Given the description of an element on the screen output the (x, y) to click on. 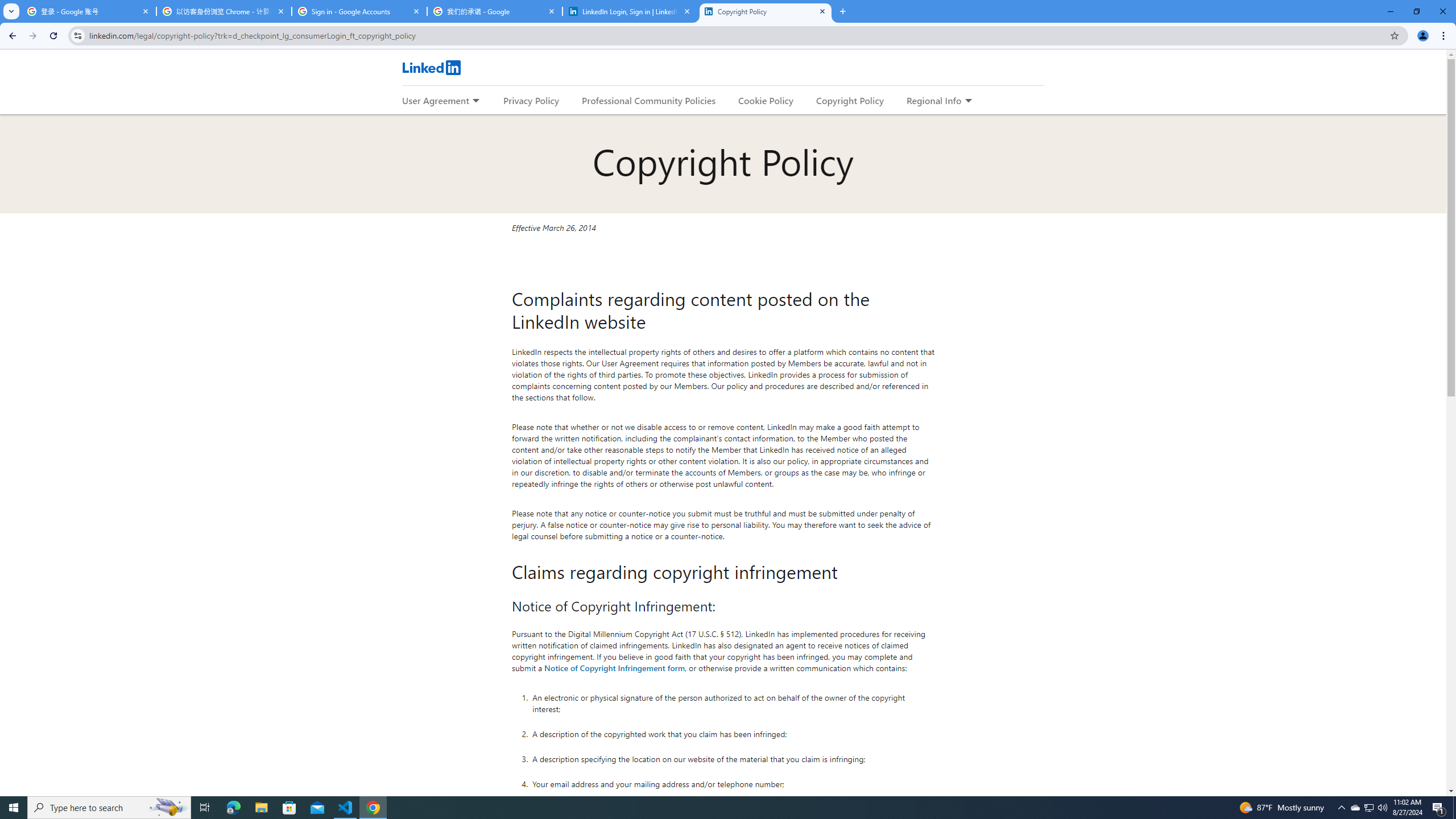
Cookie Policy (765, 100)
Notice of Copyright Infringement form (614, 667)
Regional Info (933, 100)
Expand to show more links for User Agreement (475, 101)
Copyright Policy (849, 100)
LinkedIn Logo (430, 67)
